Given the description of an element on the screen output the (x, y) to click on. 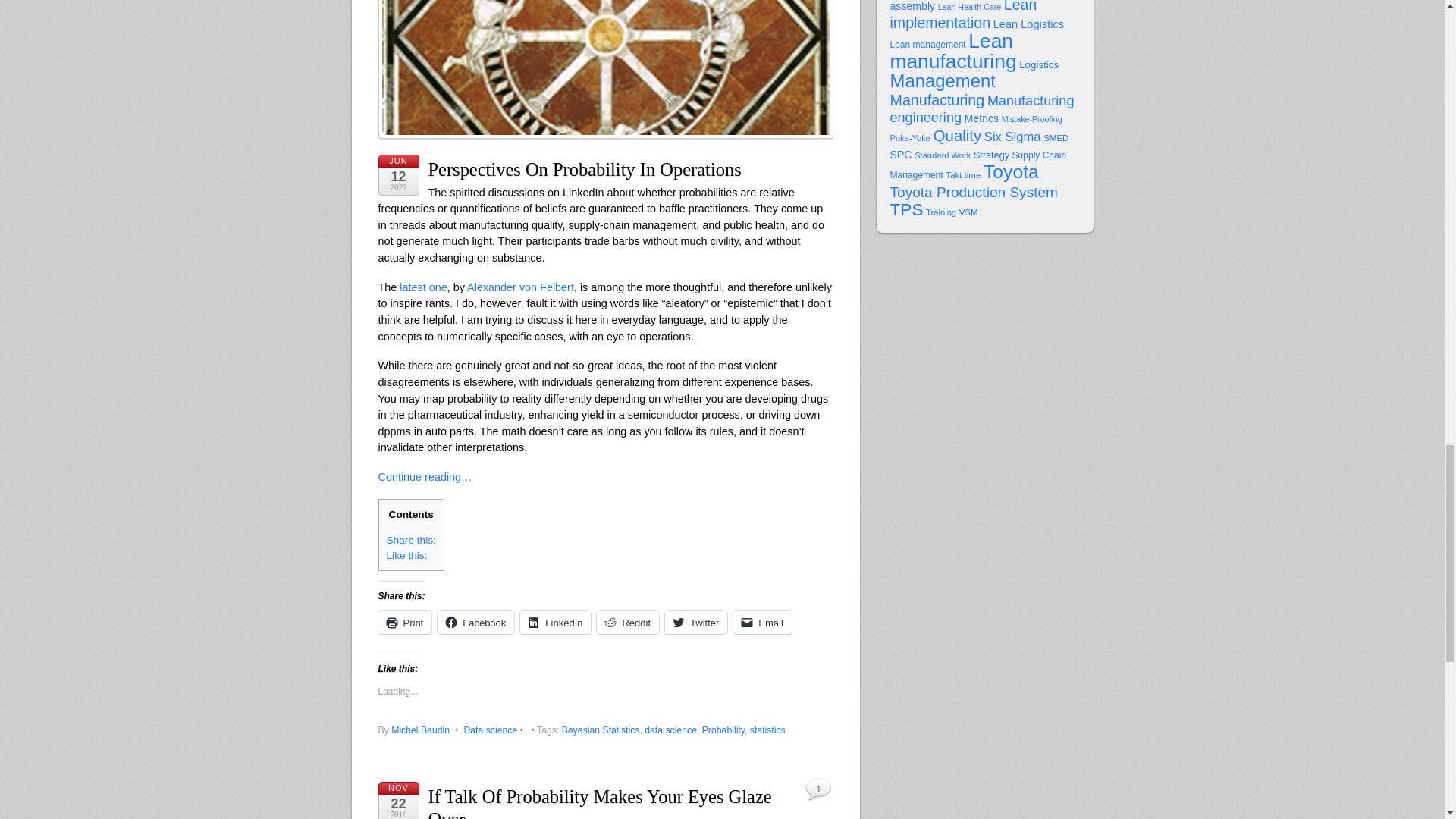
Click to print (403, 621)
Alexander von Felbert (520, 287)
Click to share on Reddit (627, 621)
Click to share on Twitter (695, 621)
Click to email a link to a friend (762, 621)
Share this: (411, 540)
latest one (422, 287)
Perspectives On Probability In Operations (584, 168)
Click to share on LinkedIn (555, 621)
Click to share on Facebook (475, 621)
